Given the description of an element on the screen output the (x, y) to click on. 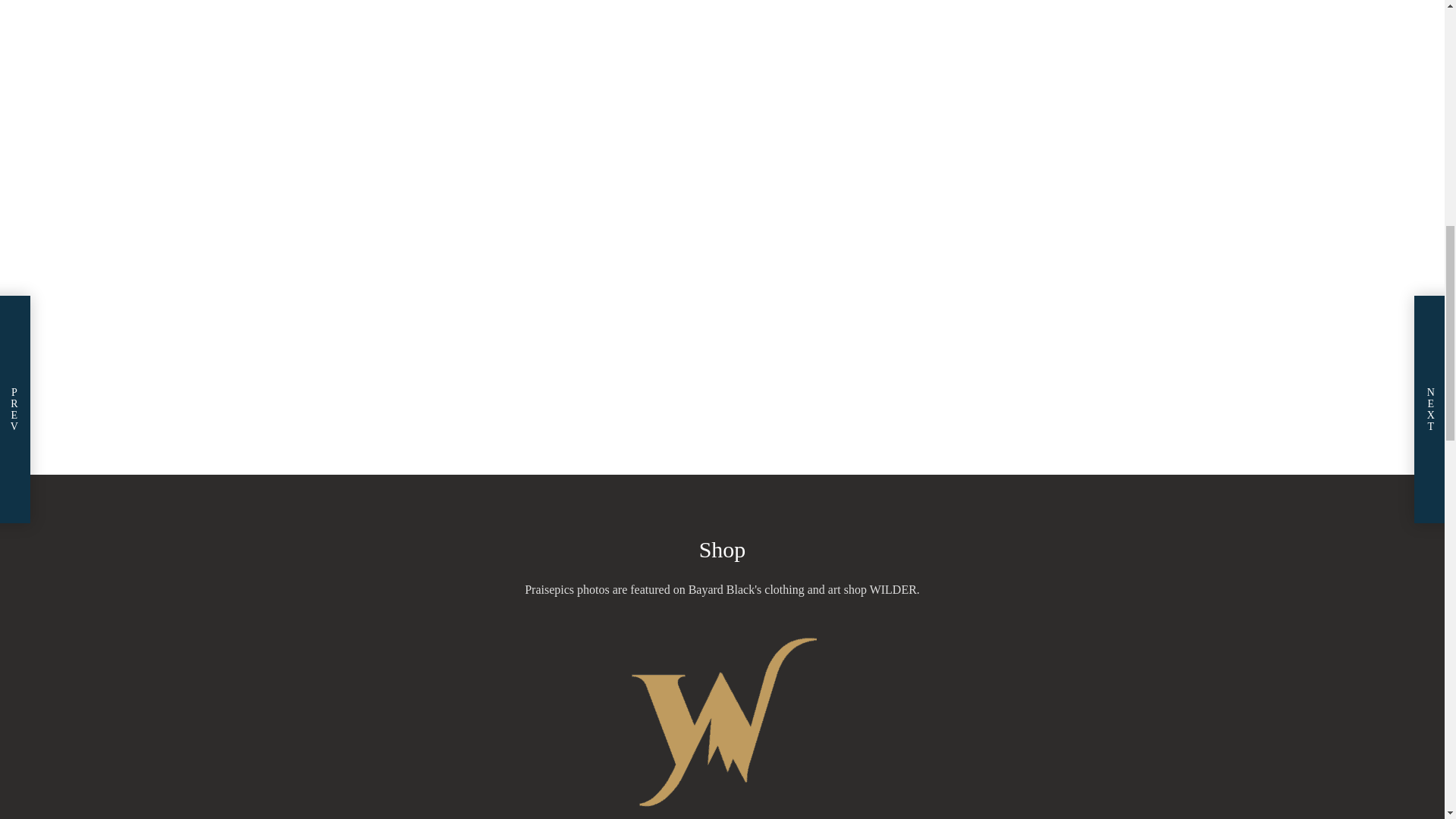
Search (947, 140)
